Given the description of an element on the screen output the (x, y) to click on. 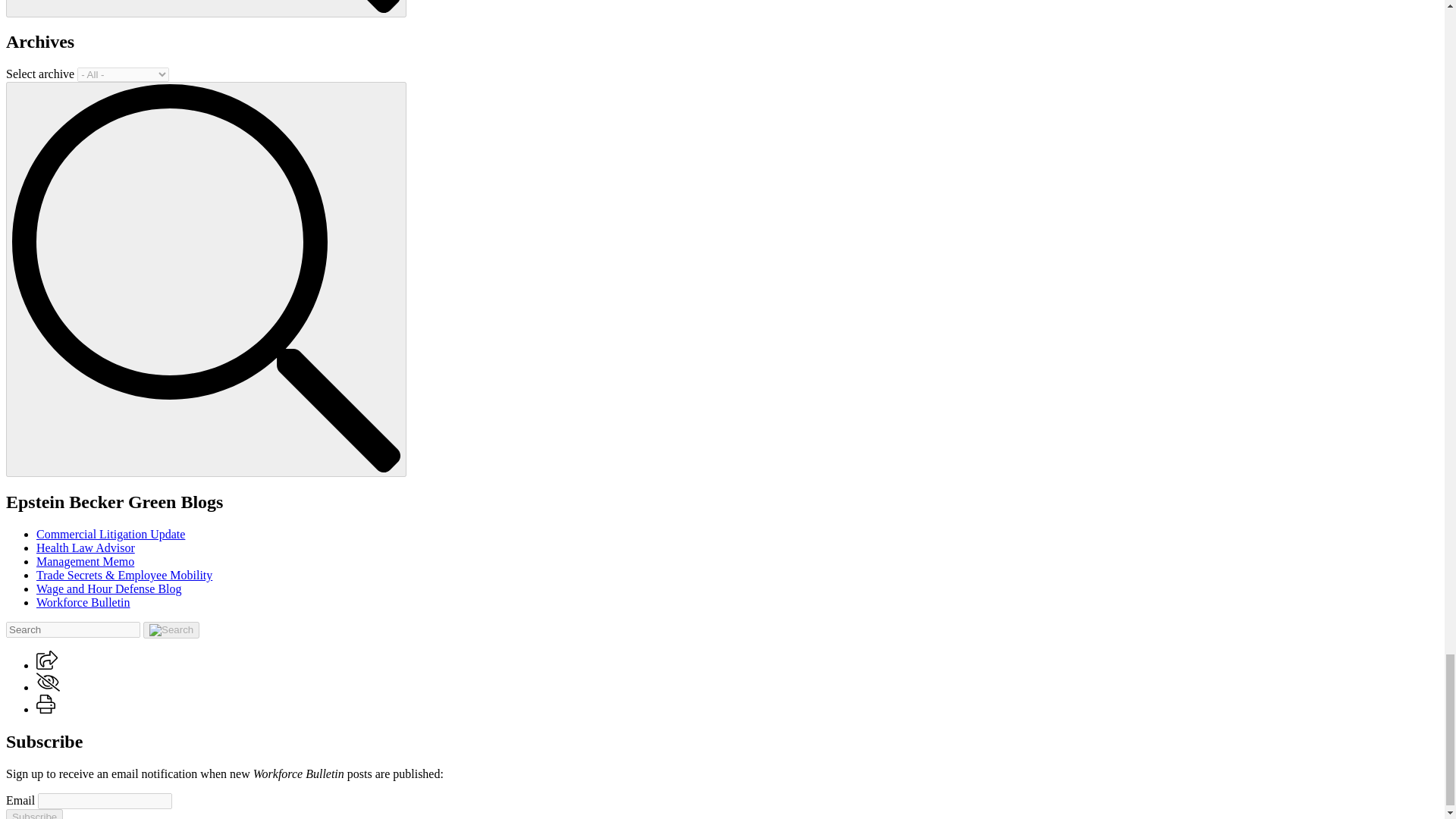
Share (47, 665)
Go to the privacy settings (47, 681)
Share (47, 659)
Print (45, 703)
Search (205, 6)
